Given the description of an element on the screen output the (x, y) to click on. 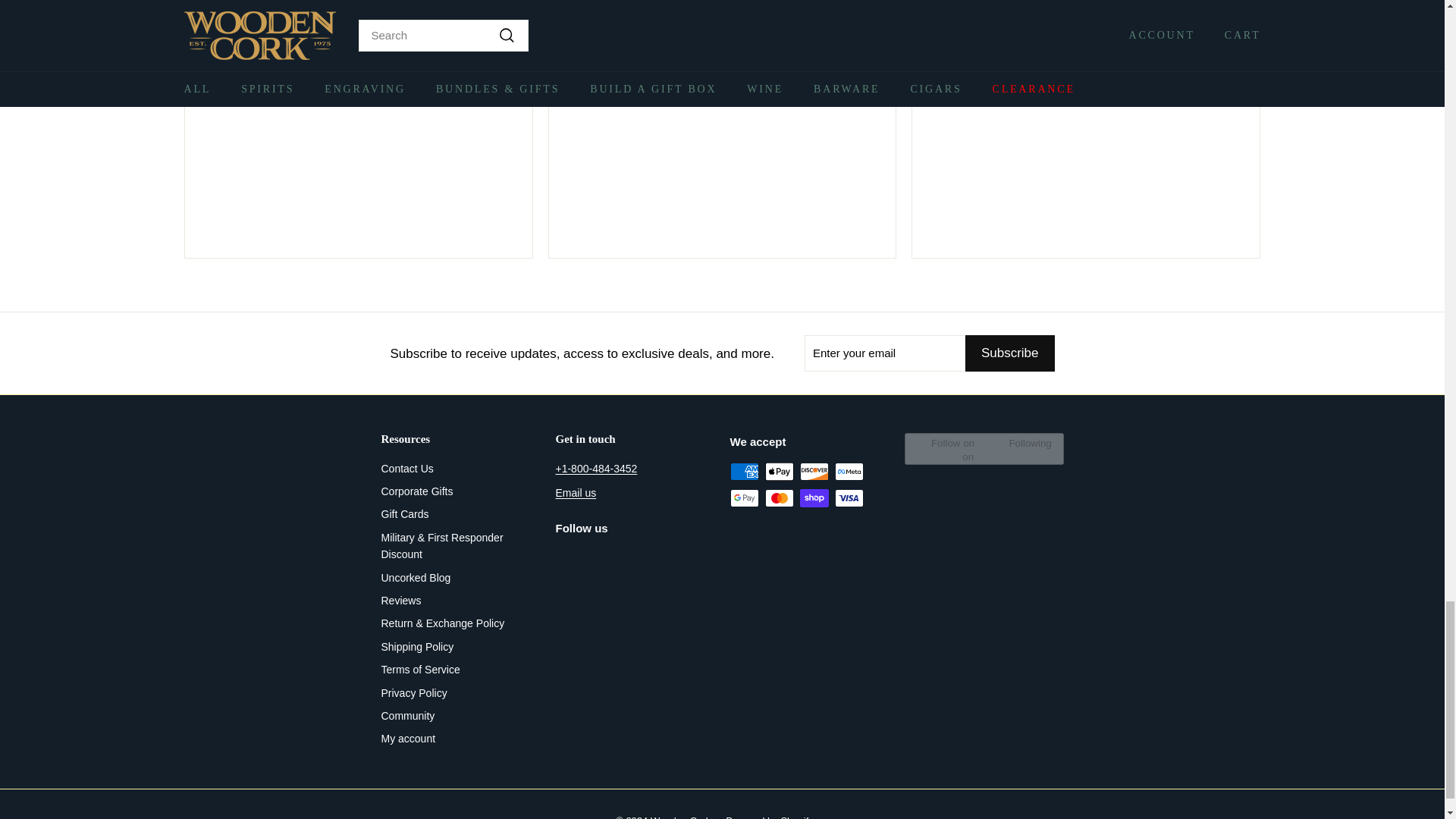
Visa (848, 497)
Discover (813, 471)
American Express (743, 471)
Mastercard (778, 497)
Apple Pay (778, 471)
Google Pay (743, 497)
Shop Pay (813, 497)
Meta Pay (848, 471)
